Given the description of an element on the screen output the (x, y) to click on. 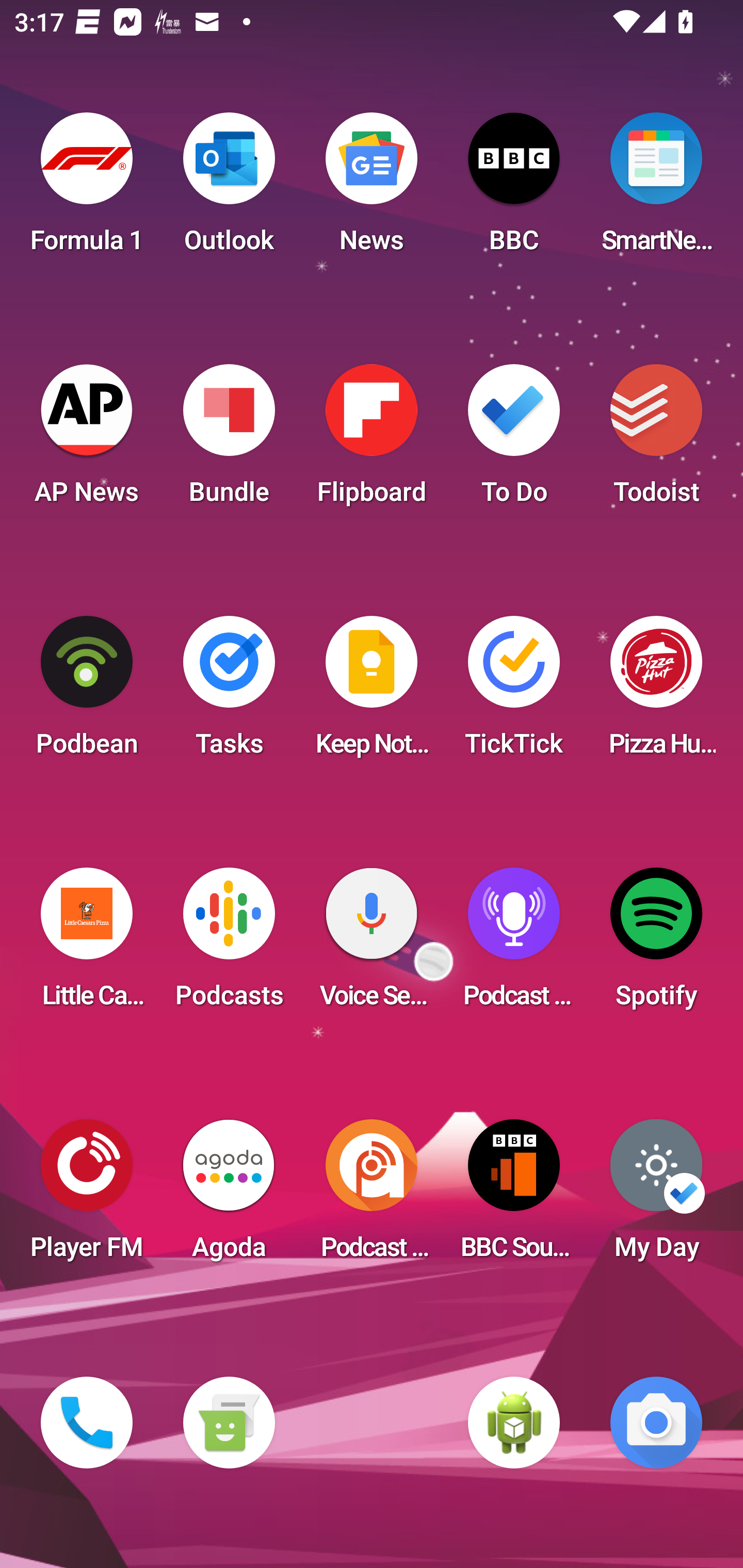
Formula 1 (86, 188)
Outlook (228, 188)
News (371, 188)
BBC (513, 188)
SmartNews (656, 188)
AP News (86, 440)
Bundle (228, 440)
Flipboard (371, 440)
To Do (513, 440)
Todoist (656, 440)
Podbean (86, 692)
Tasks (228, 692)
Keep Notes (371, 692)
TickTick (513, 692)
Pizza Hut HK & Macau (656, 692)
Little Caesars Pizza (86, 943)
Podcasts (228, 943)
Voice Search (371, 943)
Podcast Player (513, 943)
Spotify (656, 943)
Player FM (86, 1195)
Agoda (228, 1195)
Podcast Addict (371, 1195)
BBC Sounds (513, 1195)
My Day (656, 1195)
Phone (86, 1422)
Messaging (228, 1422)
WebView Browser Tester (513, 1422)
Camera (656, 1422)
